Given the description of an element on the screen output the (x, y) to click on. 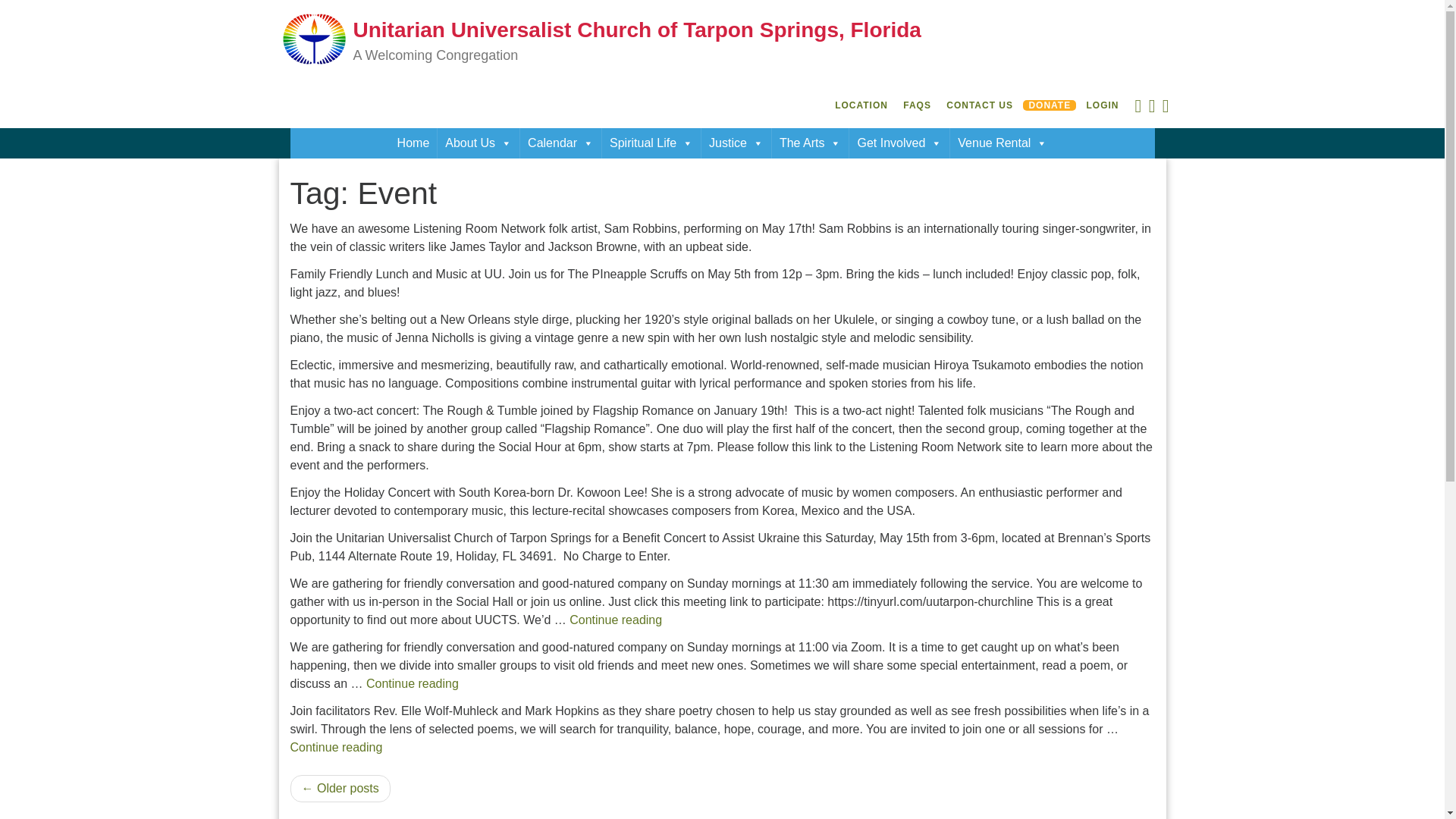
LOCATION (861, 105)
INSTAGRAM (1164, 109)
Home (414, 142)
About Us (478, 142)
YOUTUBE (1150, 109)
Justice (736, 142)
Spiritual Life (651, 142)
Calendar (560, 142)
LOGIN (1102, 105)
FAQS (917, 105)
CONTACT US (978, 105)
FACEBOOK (1137, 109)
DONATE (1049, 105)
